Given the description of an element on the screen output the (x, y) to click on. 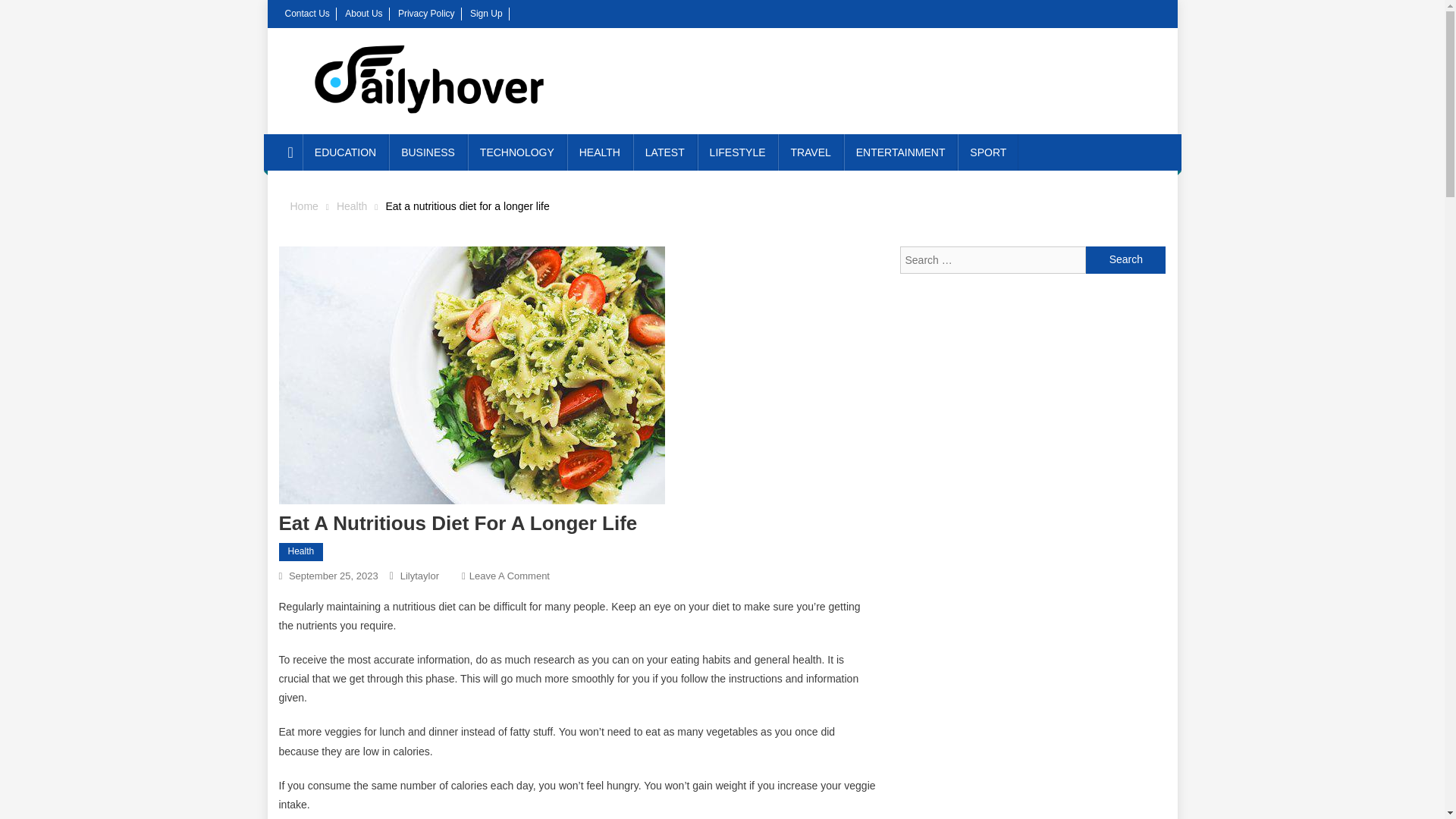
September 25, 2023 (333, 575)
Contact Us (307, 13)
Privacy Policy (425, 13)
EDUCATION (345, 152)
Search (509, 575)
BUSINESS (1126, 259)
LIFESTYLE (427, 152)
HEALTH (737, 152)
Home (599, 152)
